Given the description of an element on the screen output the (x, y) to click on. 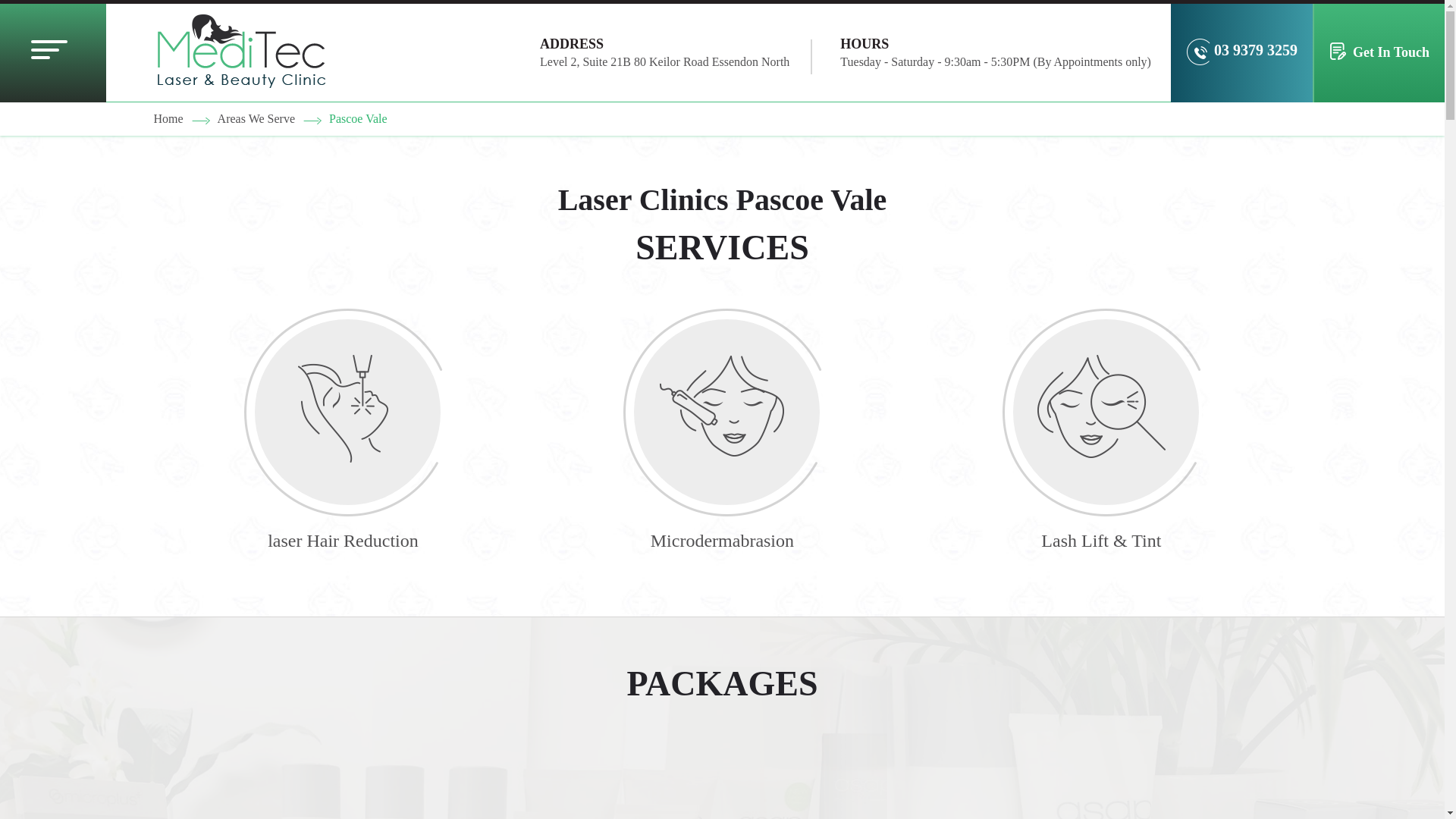
Home Element type: text (167, 118)
Lash Lift & Tint Element type: text (1100, 429)
Microdermabrasion Element type: text (721, 429)
laser Hair Reduction Element type: text (342, 429)
Get In Touch Element type: text (1378, 52)
03 9379 3259 Element type: text (1241, 52)
Areas We Serve Element type: text (255, 118)
